Given the description of an element on the screen output the (x, y) to click on. 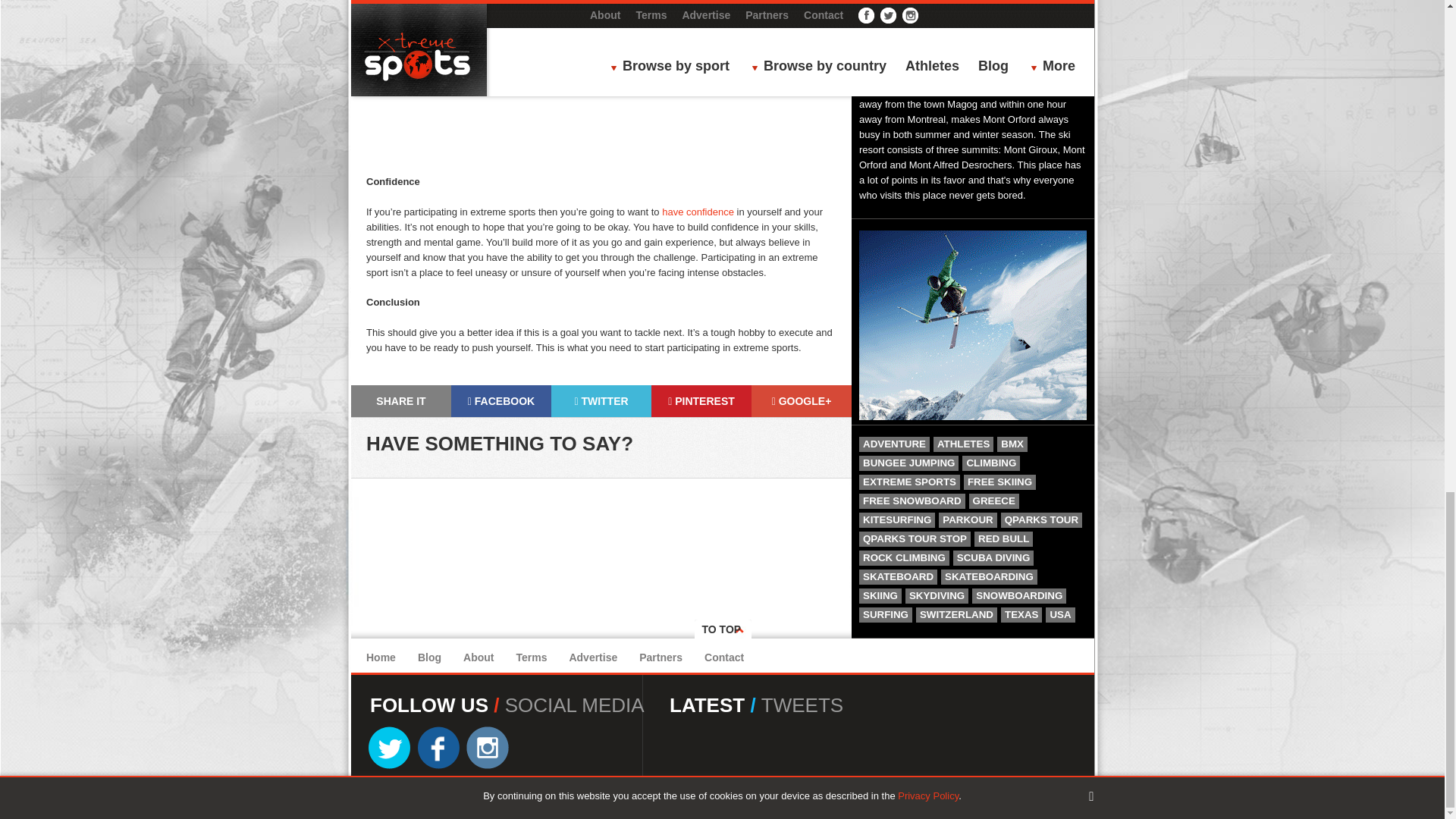
PINTEREST (700, 400)
View this spot (957, 18)
View all spots in Skiing (893, 0)
What You Need To Start Participating In Extreme Sports (600, 79)
TWITTER (600, 400)
FACEBOOK (501, 400)
have confidence (697, 211)
